Given the description of an element on the screen output the (x, y) to click on. 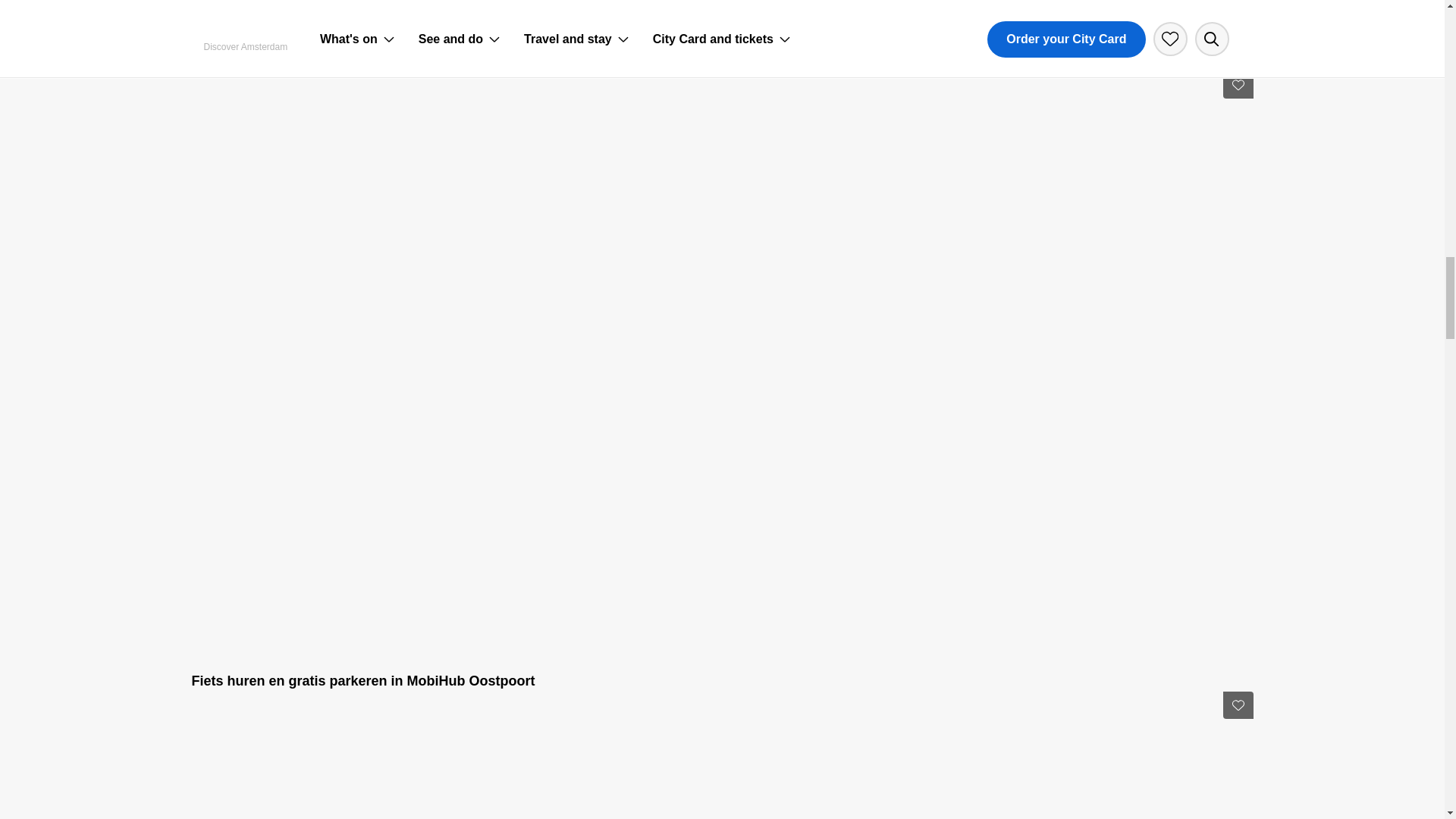
Add to favourites (1237, 84)
Add to favourites (1237, 705)
